Given the description of an element on the screen output the (x, y) to click on. 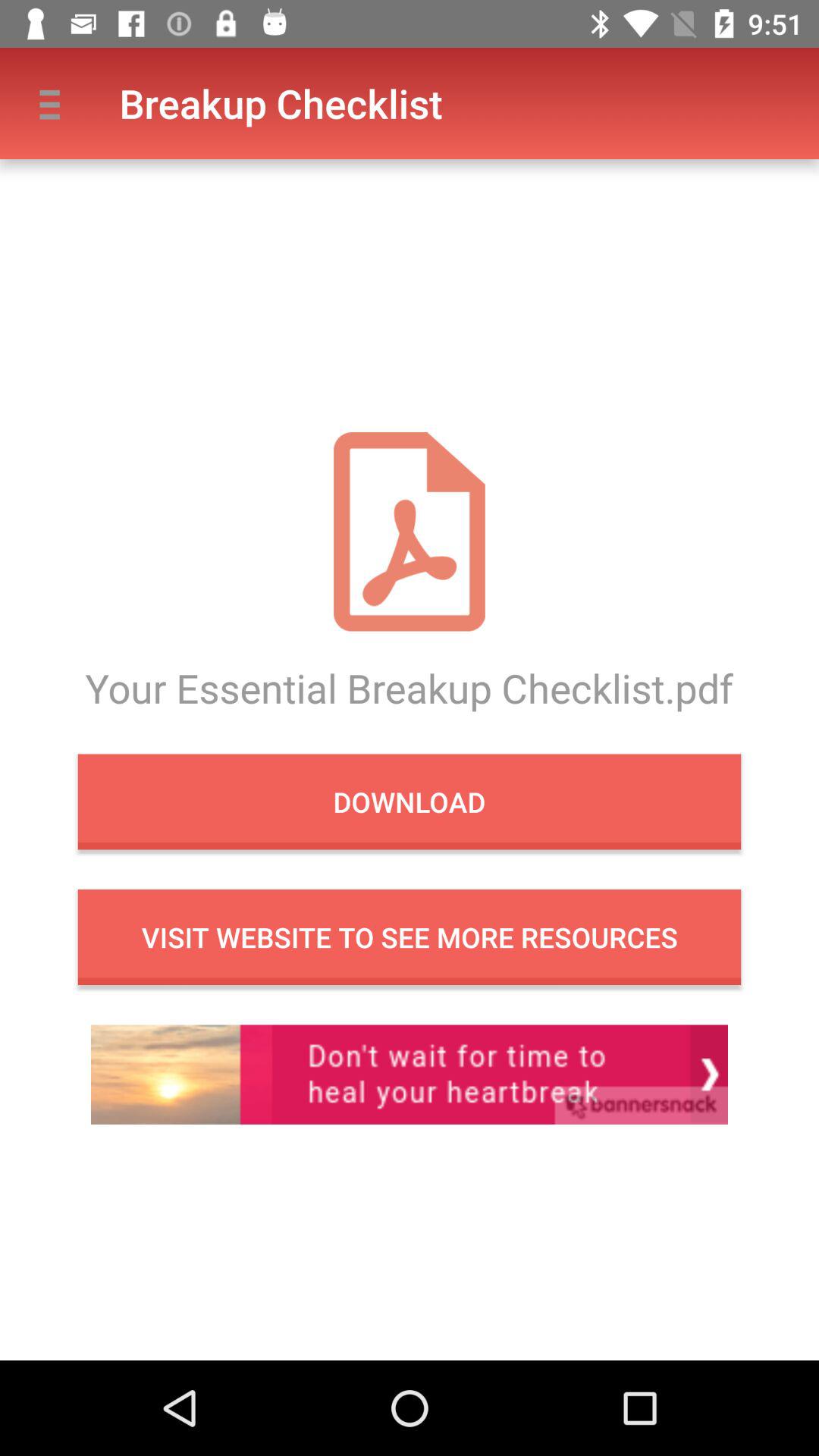
go to option (409, 1074)
